Given the description of an element on the screen output the (x, y) to click on. 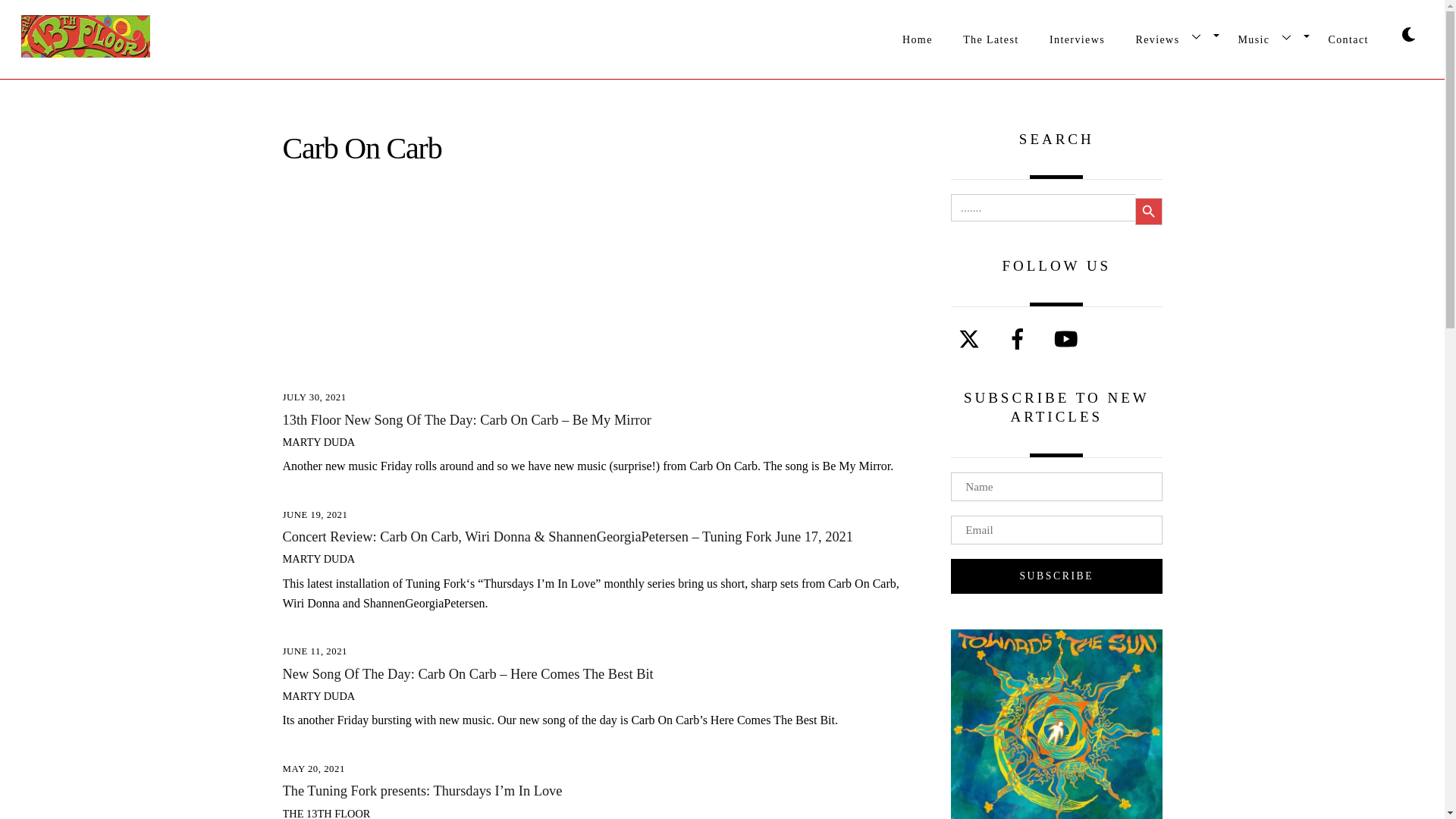
Subscribe (1055, 575)
Interviews (1077, 36)
Dark mode (1408, 33)
The Latest (990, 36)
Music (722, 33)
The 13th Floor (1267, 36)
Reviews (85, 50)
Home (1170, 35)
Contact (917, 38)
